Given the description of an element on the screen output the (x, y) to click on. 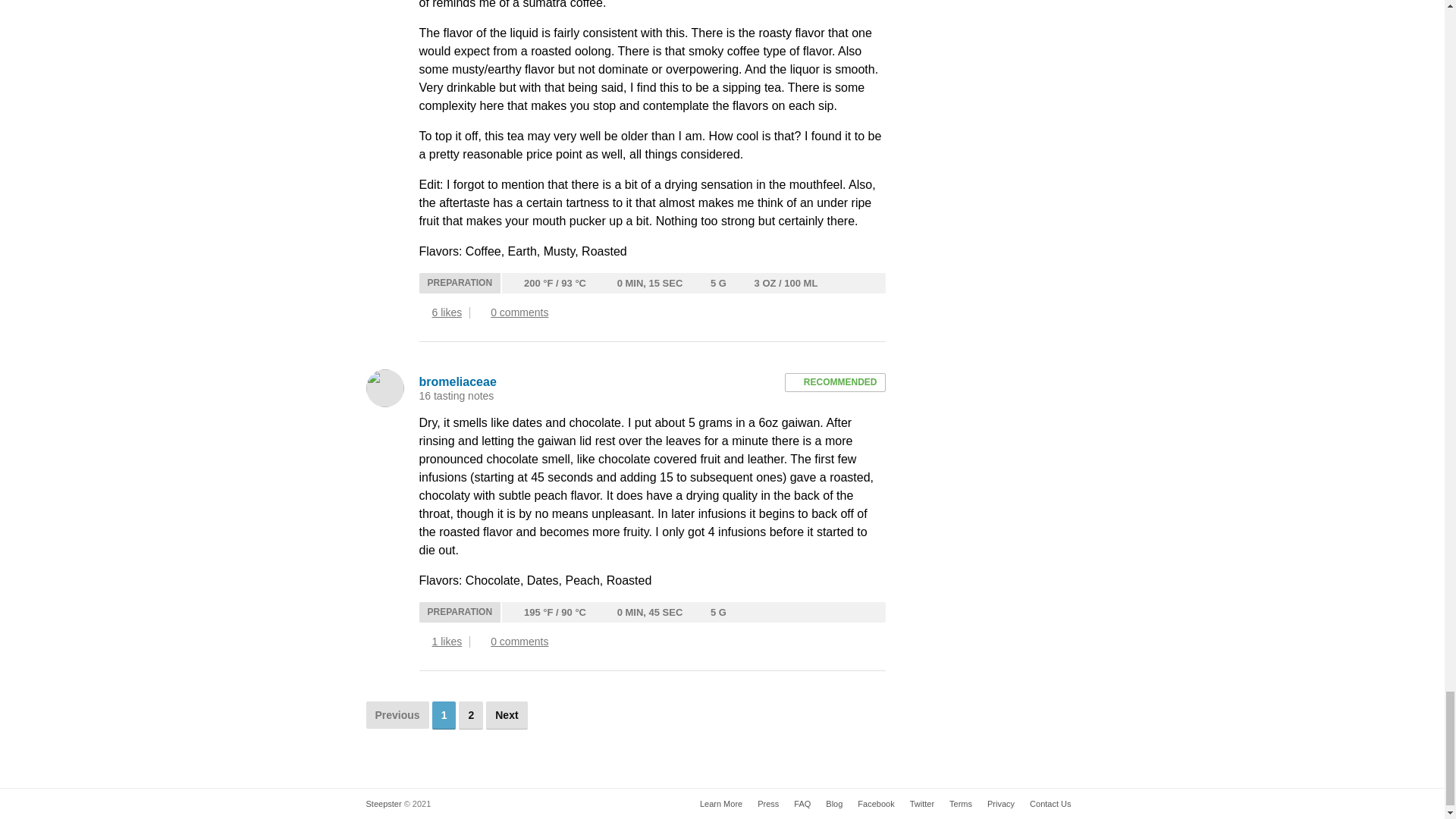
Like This (423, 312)
